Given the description of an element on the screen output the (x, y) to click on. 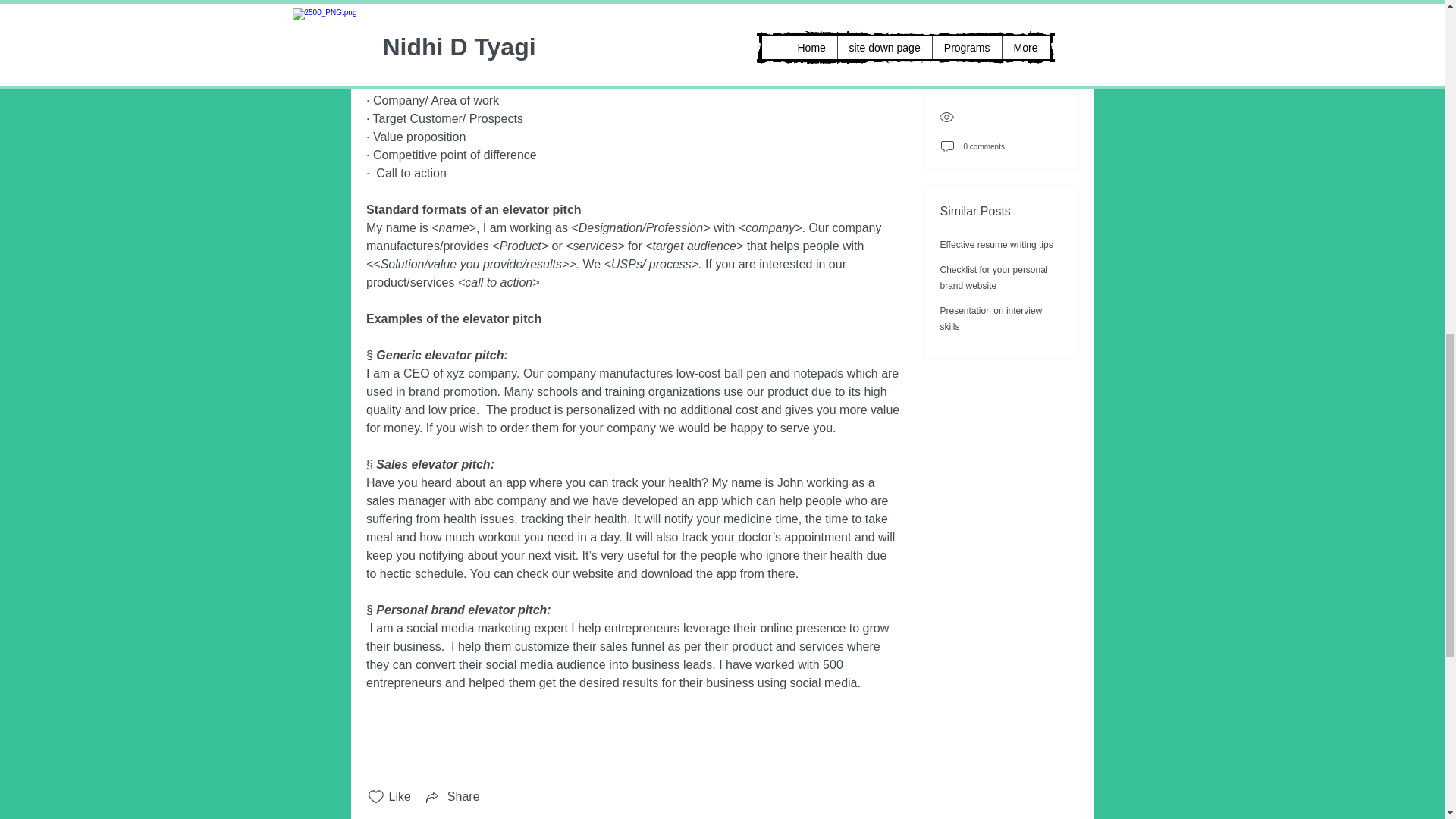
Share (451, 796)
